Given the description of an element on the screen output the (x, y) to click on. 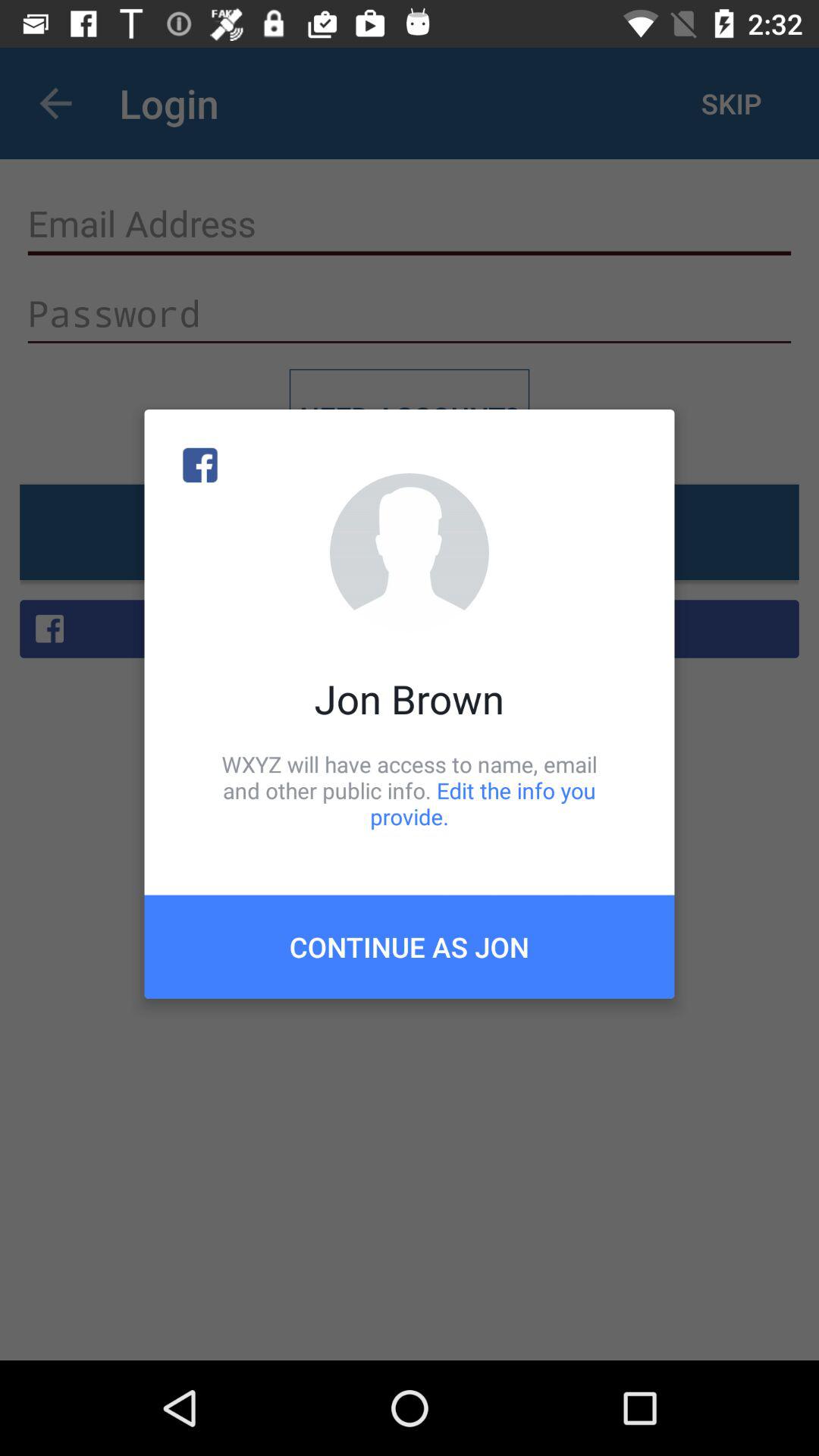
scroll until the wxyz will have (409, 790)
